Given the description of an element on the screen output the (x, y) to click on. 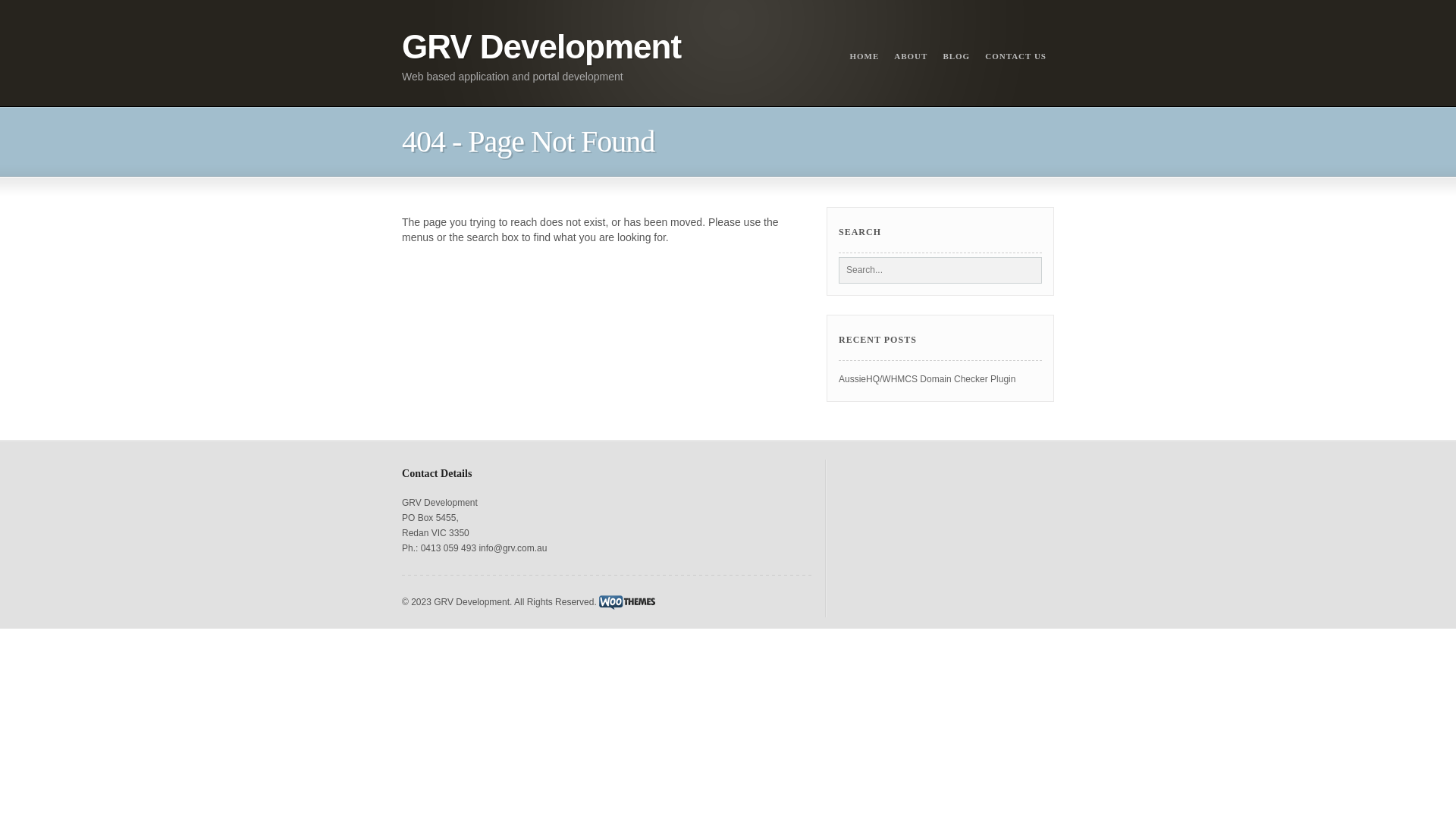
AussieHQ/WHMCS Domain Checker Plugin Element type: text (926, 378)
CONTACT US Element type: text (1015, 55)
GRV Development Element type: text (540, 46)
HOME Element type: text (863, 55)
ABOUT Element type: text (910, 55)
BLOG Element type: text (956, 55)
